Given the description of an element on the screen output the (x, y) to click on. 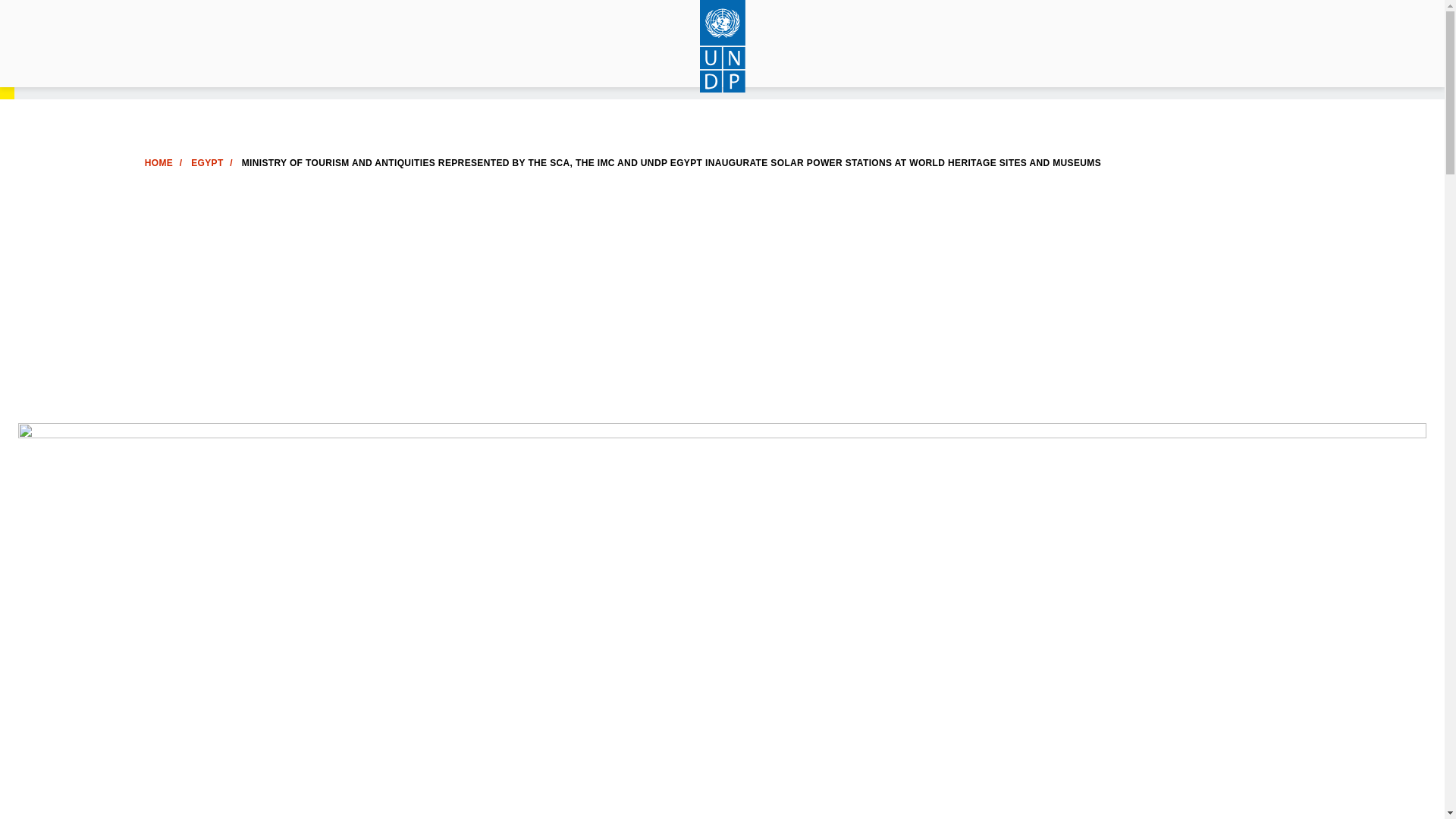
HOME (158, 163)
EGYPT (206, 163)
